Given the description of an element on the screen output the (x, y) to click on. 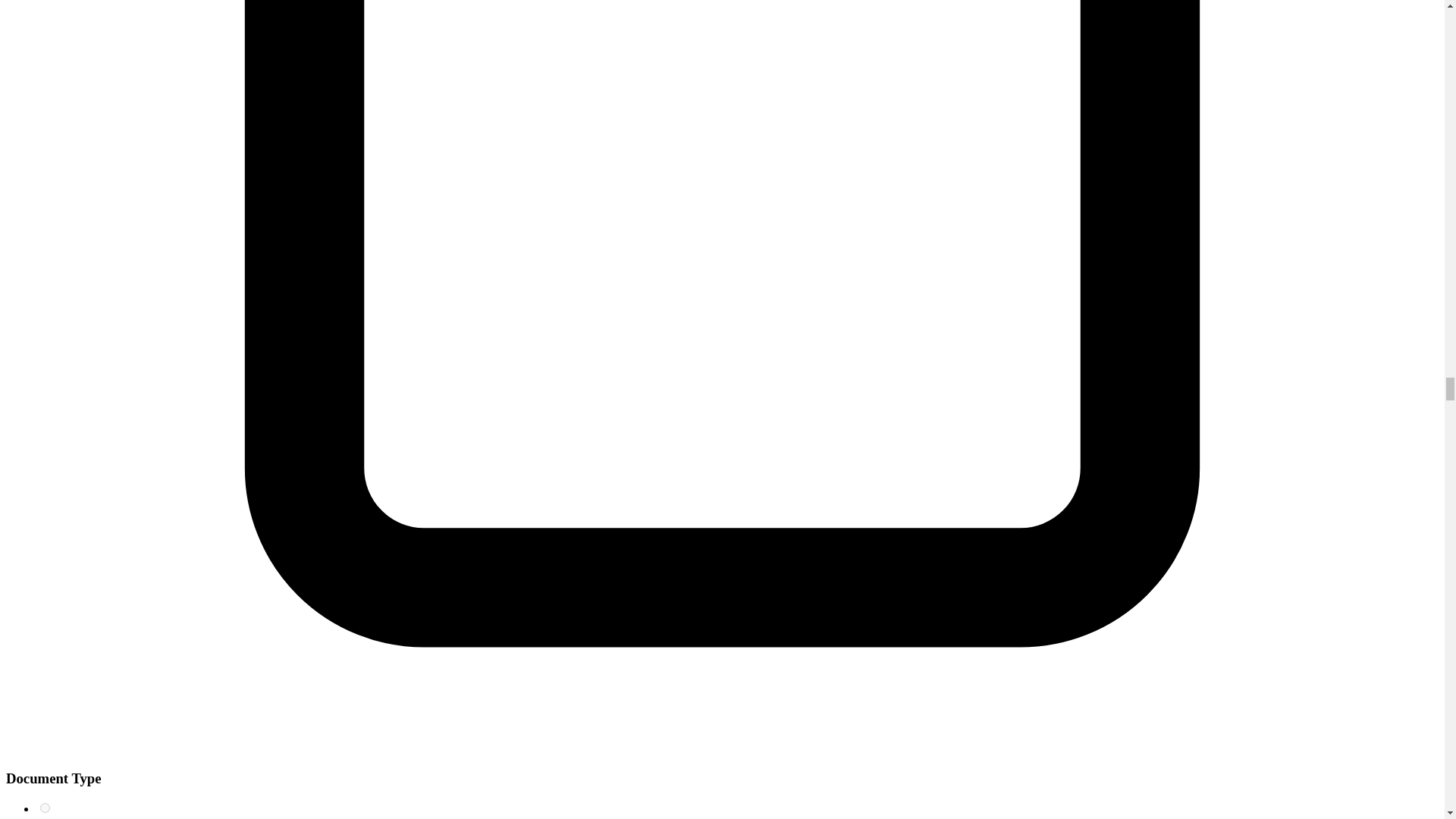
3 (44, 808)
